Given the description of an element on the screen output the (x, y) to click on. 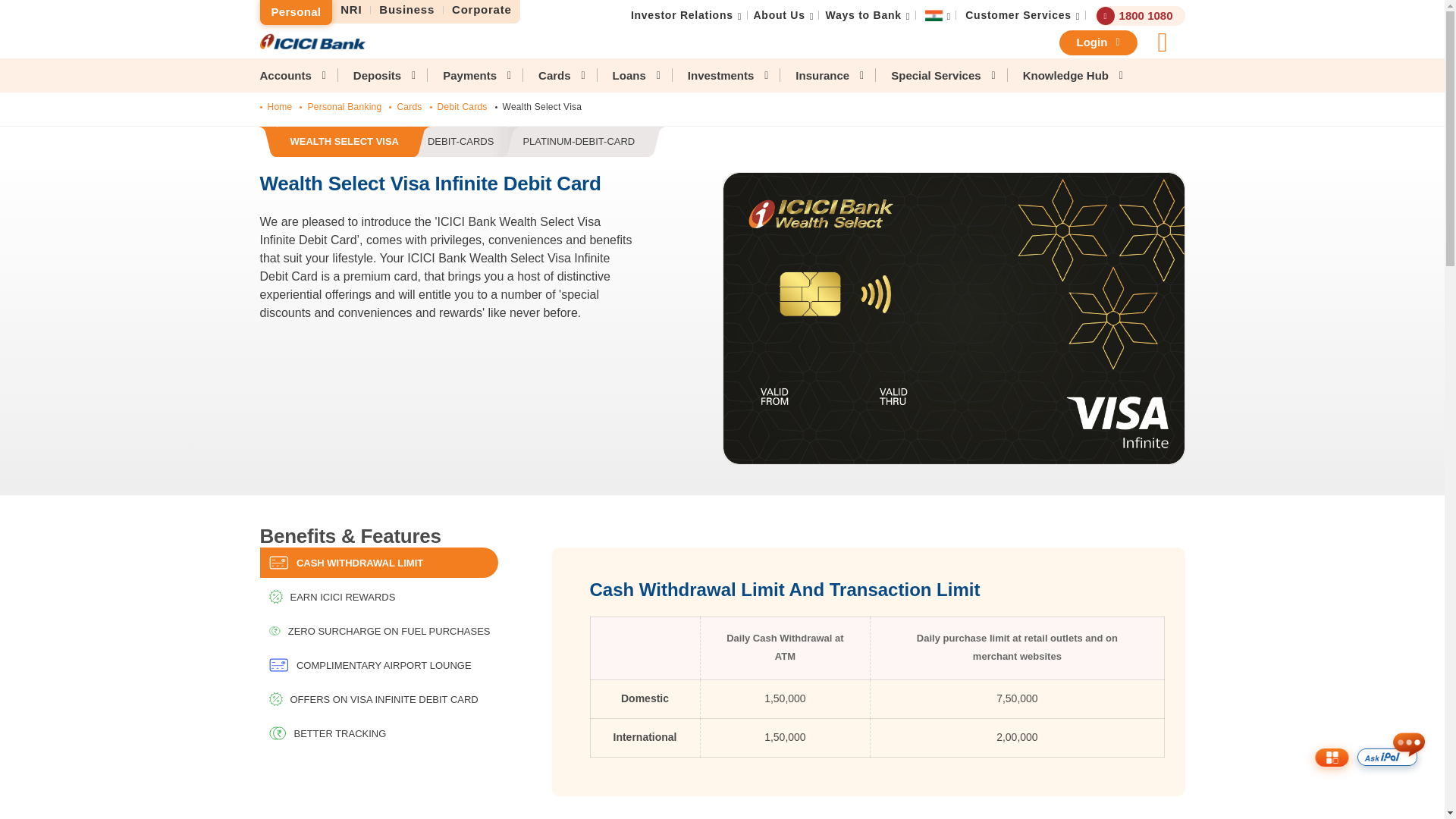
Customer Services (1018, 15)
Personal (295, 12)
Business (407, 9)
Ways to Bank (863, 15)
Corporate (481, 9)
NRI (351, 9)
About Us (779, 15)
Investor Relations (461, 142)
